Given the description of an element on the screen output the (x, y) to click on. 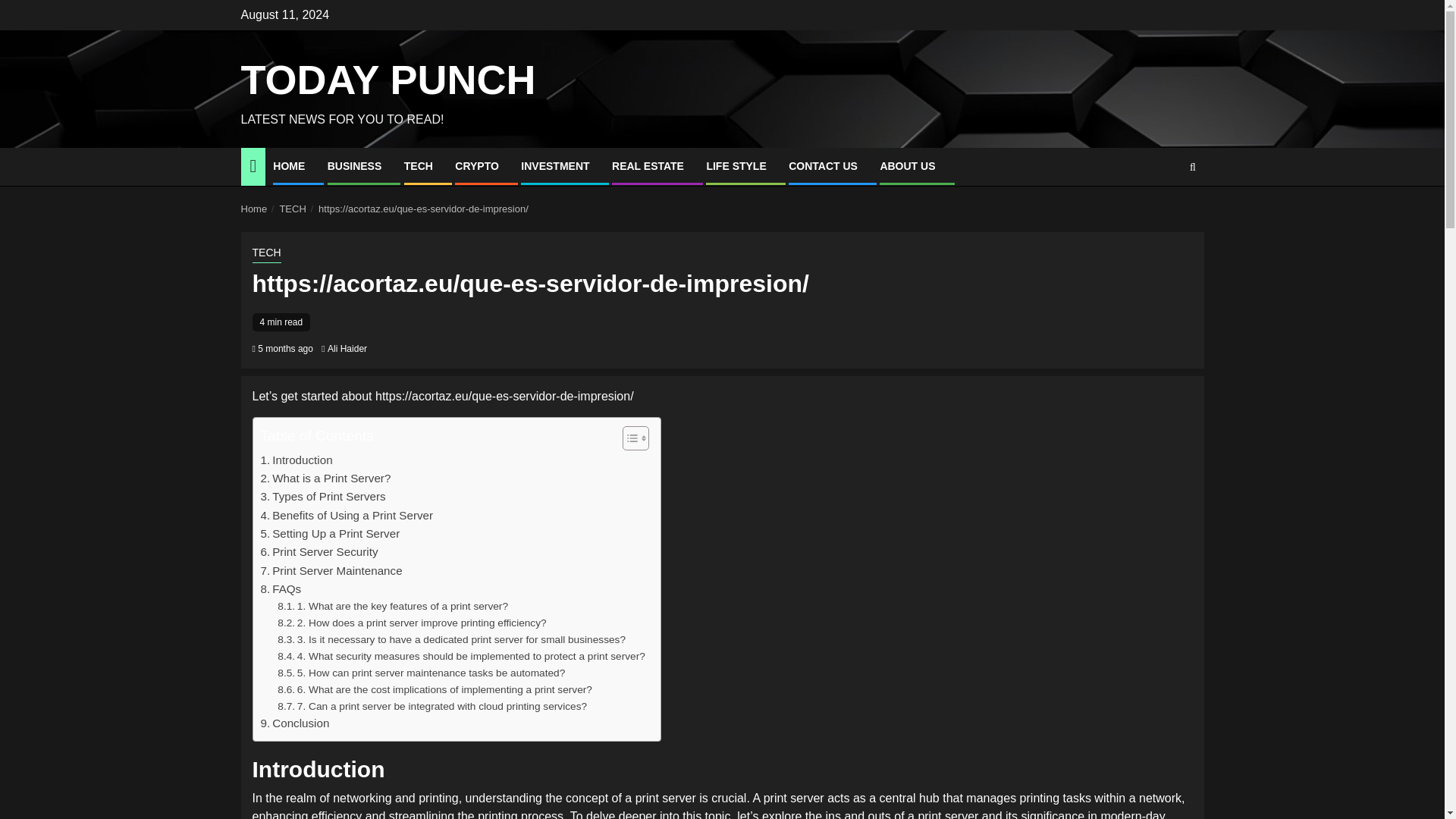
Conclusion (295, 723)
INVESTMENT (555, 165)
Introduction (296, 460)
Introduction (296, 460)
Search (1163, 213)
BUSINESS (354, 165)
What is a Print Server? (325, 478)
